Given the description of an element on the screen output the (x, y) to click on. 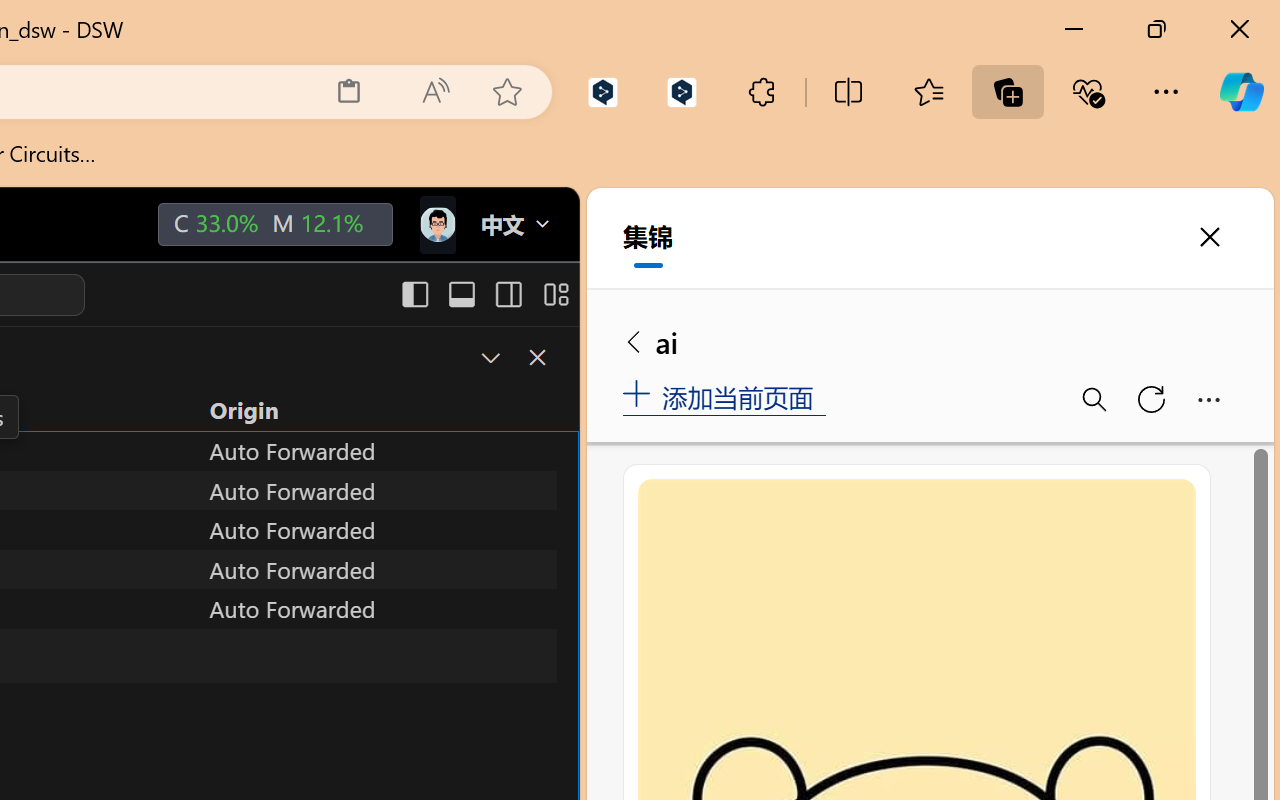
Title actions (484, 294)
